Given the description of an element on the screen output the (x, y) to click on. 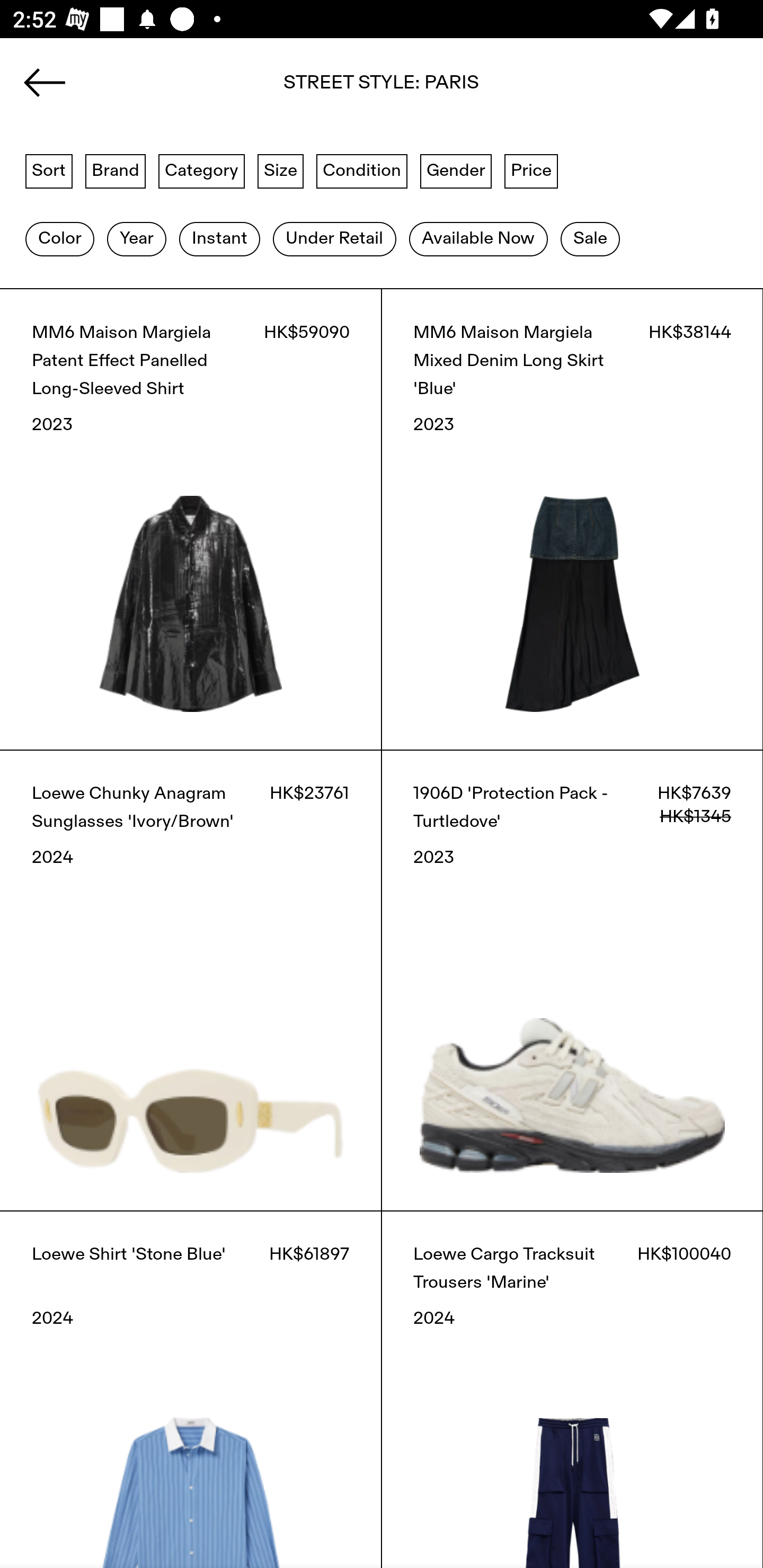
hoodie (381, 88)
Sort (48, 170)
Brand (115, 170)
Category (201, 170)
Size (280, 170)
Condition (361, 170)
Gender (455, 170)
Price (530, 170)
Color (59, 239)
Year (136, 239)
Instant (219, 239)
Under Retail (334, 239)
Available Now (477, 239)
Sale (589, 239)
Loewe Shirt 'Stone Blue' HK$61897 2024 (190, 1389)
